Given the description of an element on the screen output the (x, y) to click on. 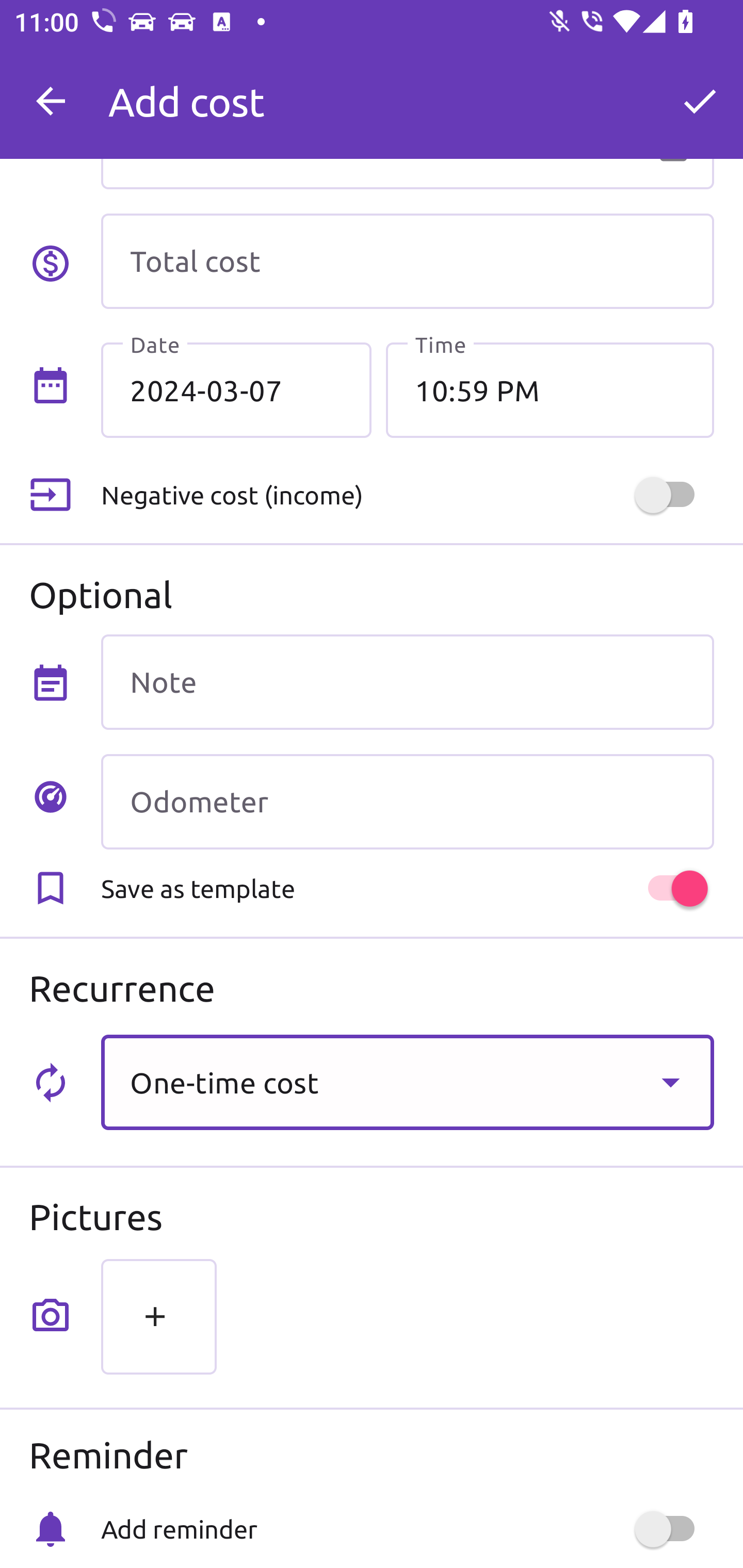
M My Car 0 km (407, 92)
Navigate up (50, 101)
OK (699, 101)
Total cost  (407, 260)
2024-03-07 (236, 389)
10:59 PM (549, 389)
Negative cost (income) (407, 494)
Note (407, 682)
Odometer (407, 801)
Save as template (407, 887)
One-time cost (407, 1082)
Show dropdown menu (670, 1081)
Add reminder (407, 1529)
